Given the description of an element on the screen output the (x, y) to click on. 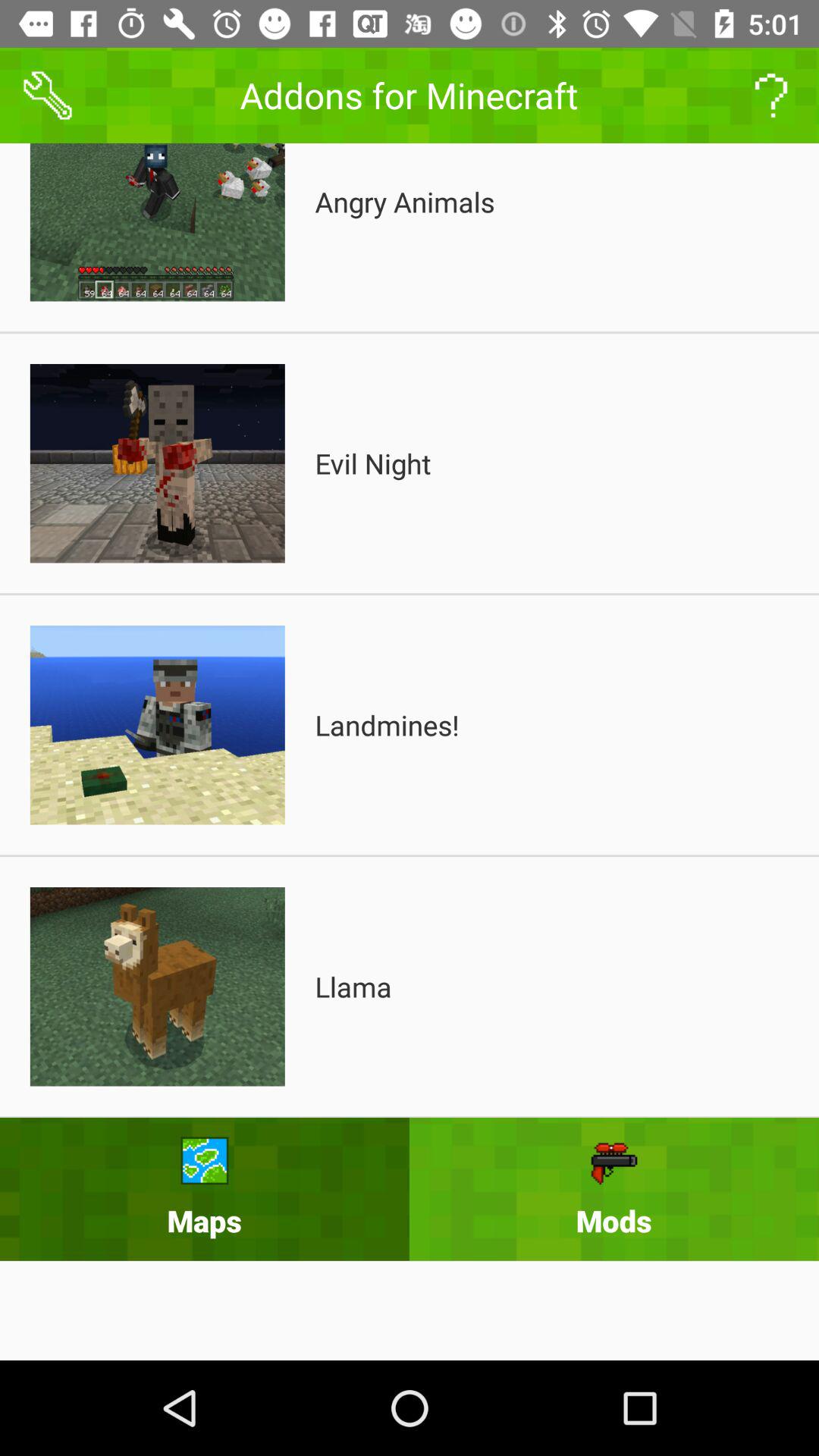
tap the icon below the landmines! icon (353, 986)
